Given the description of an element on the screen output the (x, y) to click on. 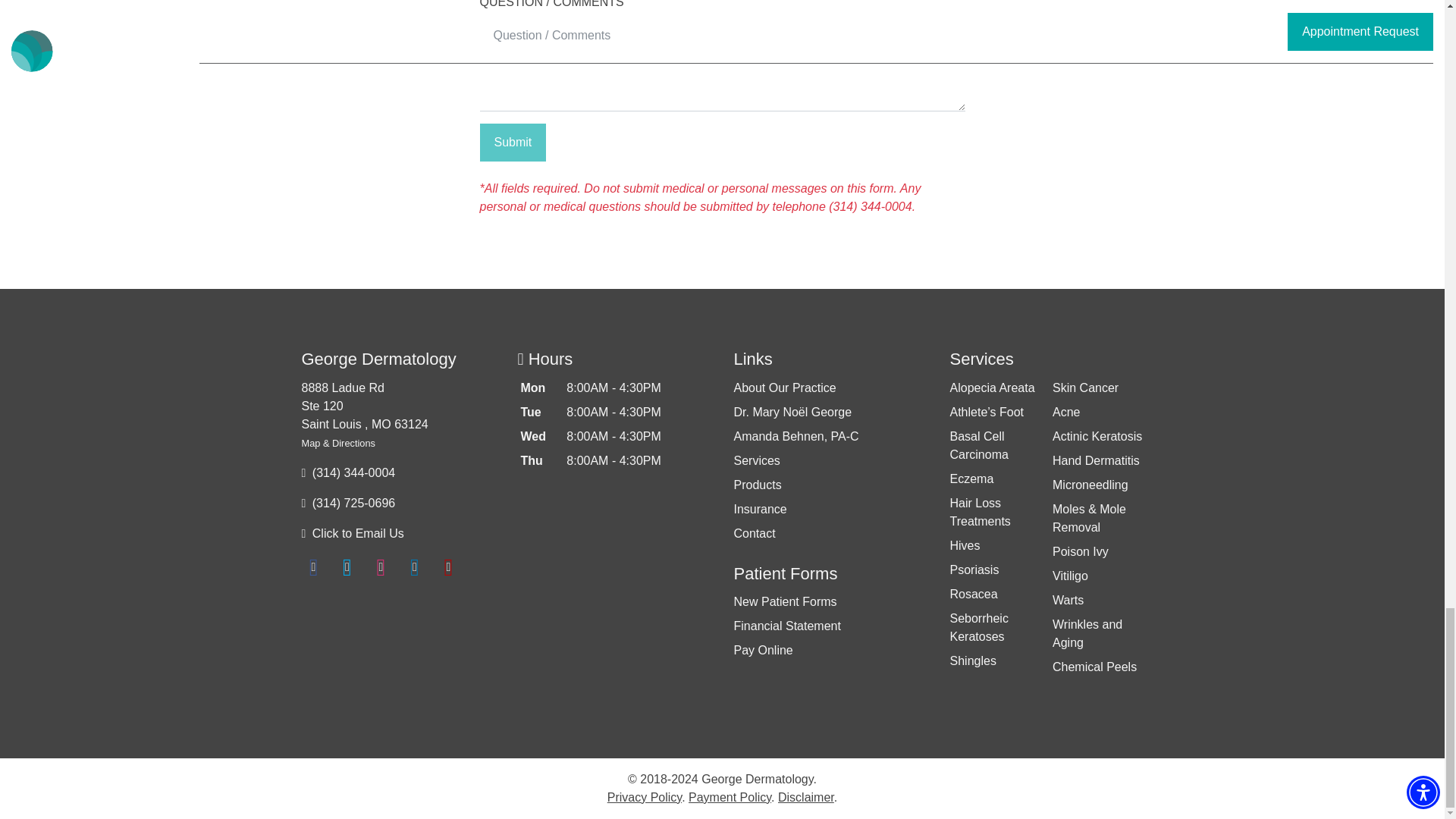
Facebook (313, 565)
About Our Practice (784, 387)
Instagram (380, 565)
YouTube (447, 565)
Submit (512, 142)
Twitter (346, 565)
Submit (512, 142)
Linkedin (414, 565)
Click to Email Us (358, 533)
